Given the description of an element on the screen output the (x, y) to click on. 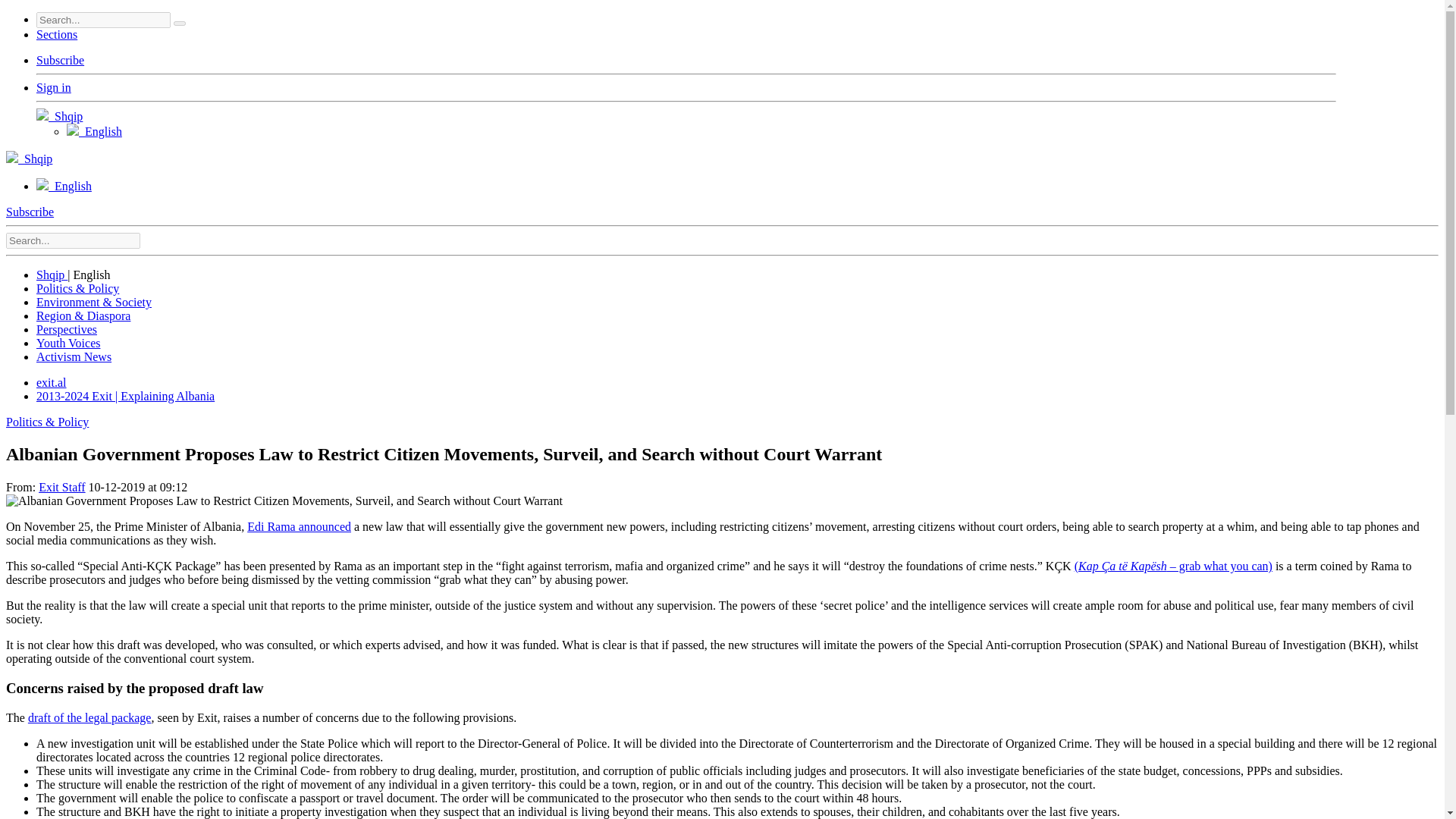
Youth Voices (68, 342)
  Shqip (59, 115)
Exit Staff (61, 486)
  Shqip (28, 158)
Subscribe (29, 211)
  English (94, 131)
Perspectives (66, 328)
Sign in (53, 87)
Shqip (51, 274)
English (92, 274)
Edi Rama announced (298, 526)
draft of the legal package (89, 717)
  English (63, 185)
Subscribe (60, 60)
